Given the description of an element on the screen output the (x, y) to click on. 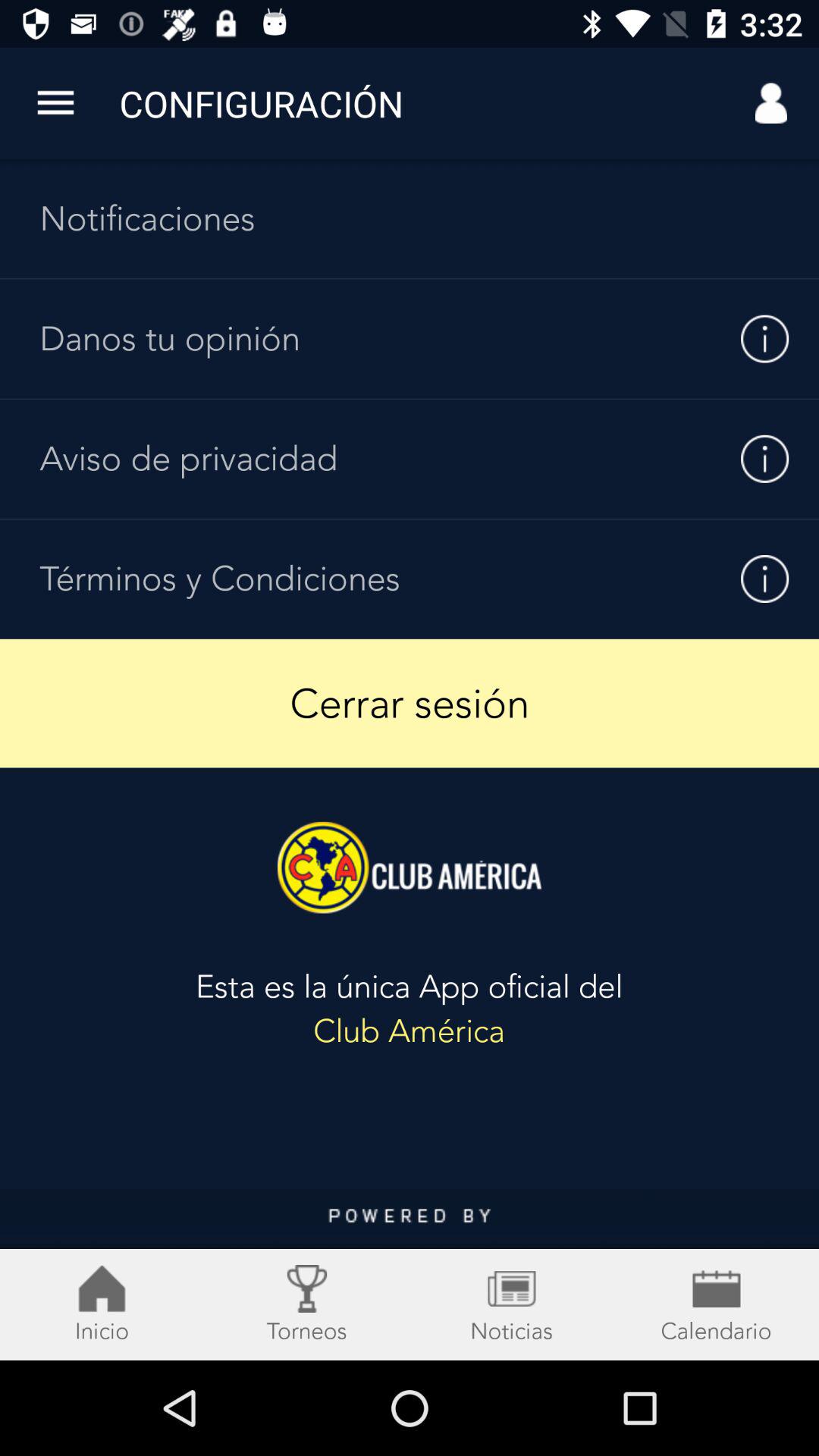
menu (409, 1274)
